Given the description of an element on the screen output the (x, y) to click on. 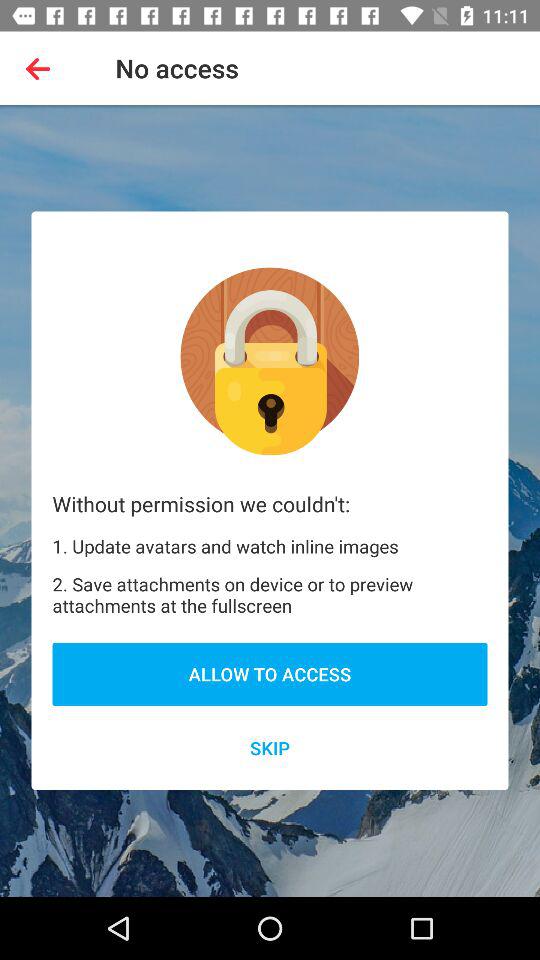
turn off app to the left of the no access item (41, 68)
